Given the description of an element on the screen output the (x, y) to click on. 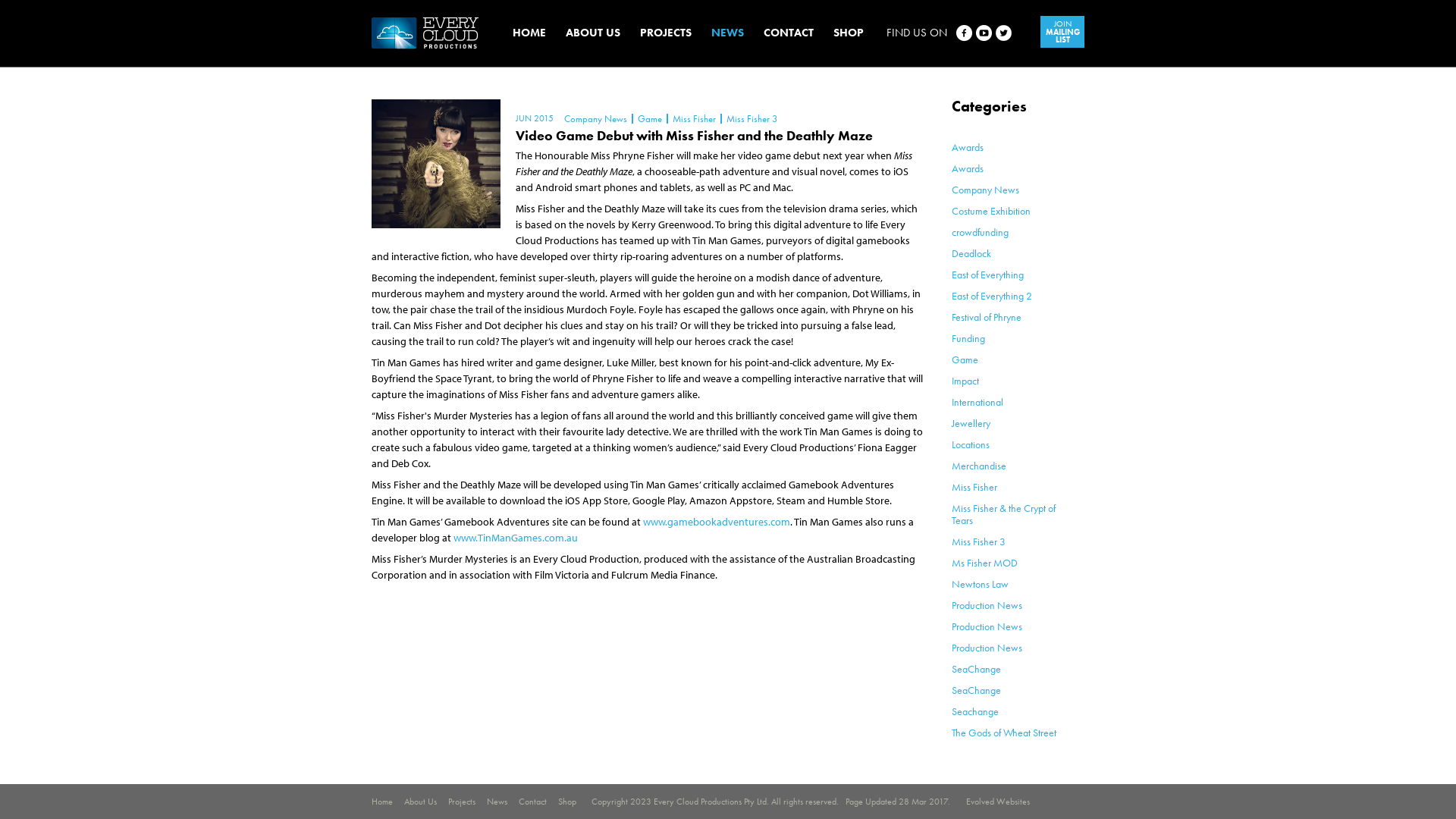
East of Everything Element type: text (987, 274)
www.TinManGames.com.au Element type: text (515, 537)
East of Everything 2 Element type: text (991, 295)
Production News Element type: text (986, 604)
SHOP Element type: text (848, 32)
crowdfunding Element type: text (979, 231)
Impact Element type: text (965, 380)
Merchandise Element type: text (978, 465)
Shop Element type: text (567, 801)
Locations Element type: text (970, 444)
About Us Element type: text (420, 801)
ABOUT US Element type: text (592, 32)
Miss Fisher Element type: text (974, 486)
Awards Element type: text (967, 146)
Seachange Element type: text (974, 711)
Game Element type: text (648, 118)
Evolved Websites Element type: text (997, 801)
Company News Element type: text (595, 118)
HOME Element type: text (529, 32)
Projects Element type: text (461, 801)
Festival of Phryne Element type: text (986, 316)
Miss Fisher Element type: text (693, 118)
SeaChange Element type: text (976, 668)
Company News Element type: text (985, 189)
NEWS Element type: text (727, 32)
CONTACT Element type: text (788, 32)
International Element type: text (977, 401)
Production News Element type: text (986, 647)
Game Element type: text (964, 359)
Newtons Law Element type: text (979, 583)
News Element type: text (496, 801)
JOIN
MAILING LIST Element type: text (1062, 31)
Miss Fisher 3 Element type: text (750, 118)
Miss Fisher & the Crypt of Tears Element type: text (1003, 514)
SeaChange Element type: text (976, 689)
Ms Fisher MOD Element type: text (984, 562)
PROJECTS Element type: text (665, 32)
Home Element type: text (381, 801)
Funding Element type: text (968, 338)
Production News Element type: text (986, 626)
The Gods of Wheat Street Element type: text (1003, 732)
www.gamebookadventures.com Element type: text (716, 521)
Awards Element type: text (967, 168)
Miss Fisher 3 Element type: text (978, 541)
Contact Element type: text (532, 801)
Costume Exhibition Element type: text (990, 210)
Jewellery Element type: text (970, 422)
Deadlock Element type: text (971, 253)
